Given the description of an element on the screen output the (x, y) to click on. 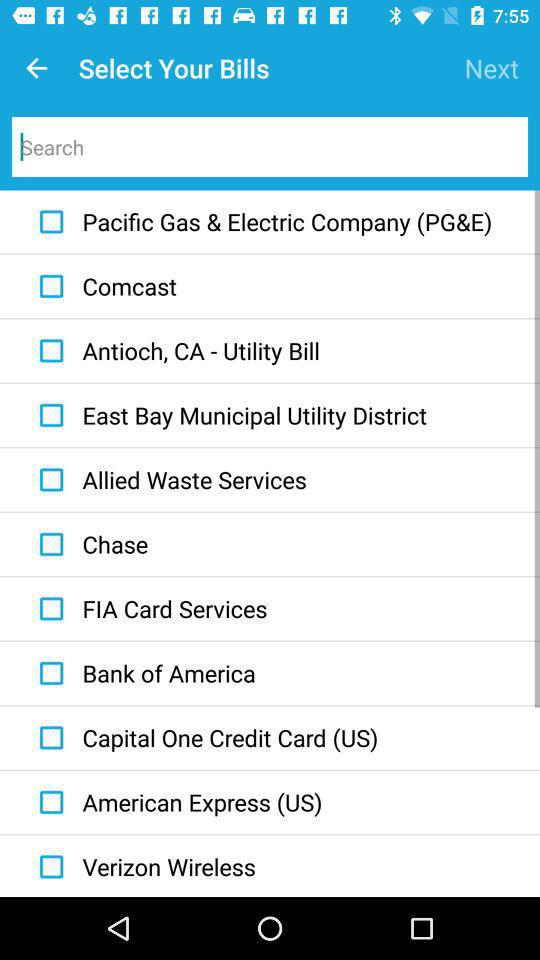
select the comcast icon (103, 286)
